Given the description of an element on the screen output the (x, y) to click on. 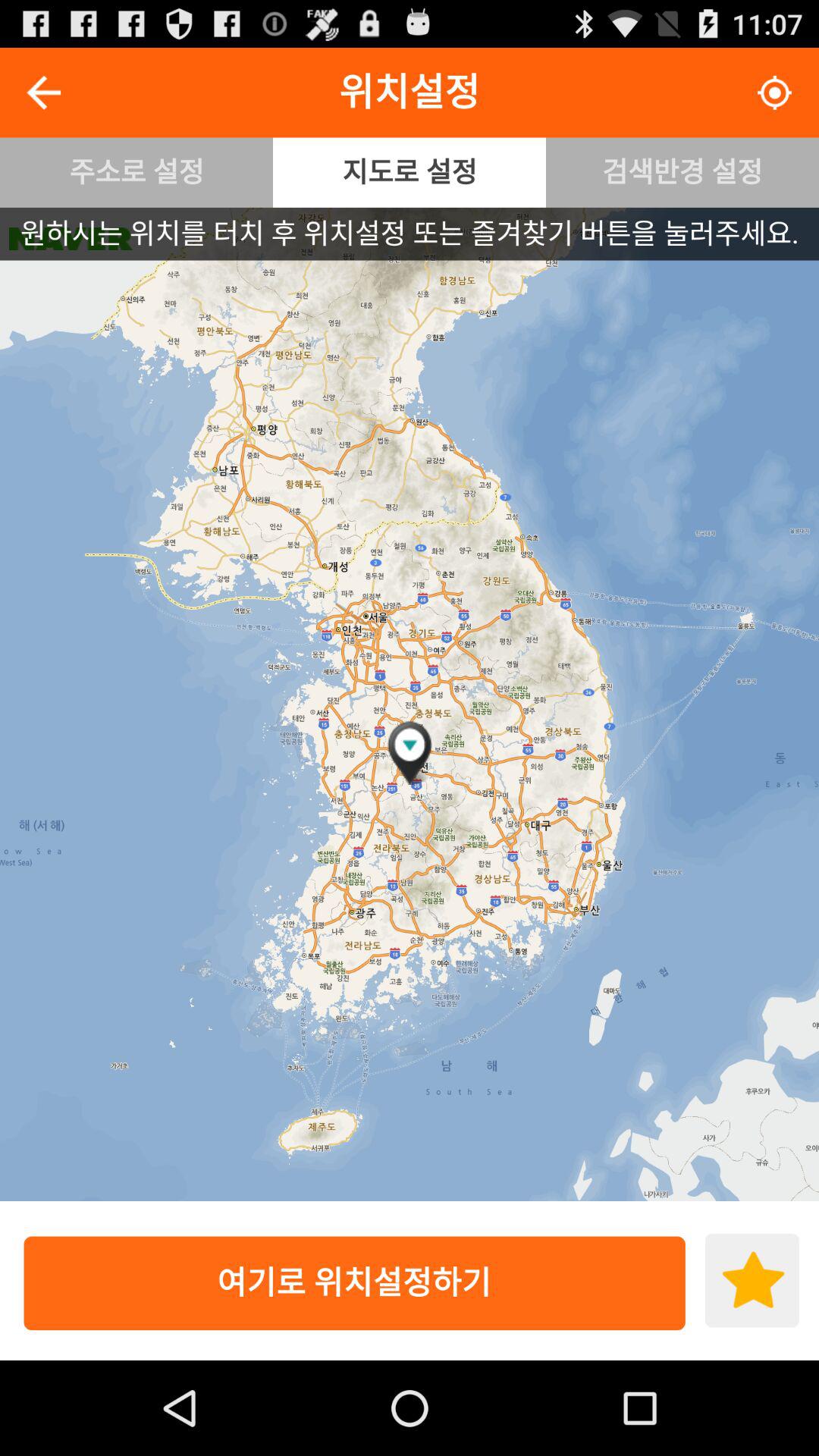
tap icon at the bottom right corner (752, 1280)
